Given the description of an element on the screen output the (x, y) to click on. 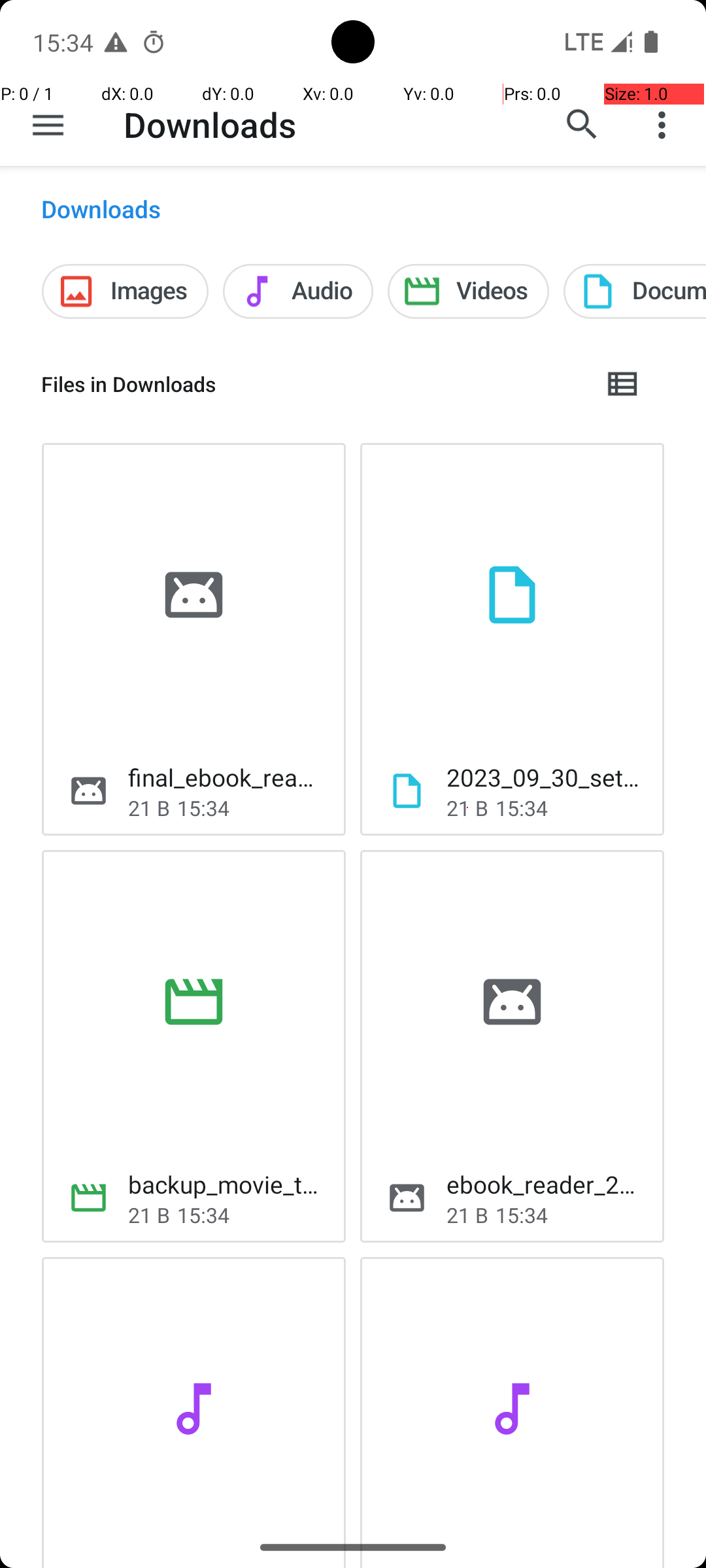
final_ebook_reader.apk Element type: android.widget.TextView (226, 776)
21 B Element type: android.widget.TextView (148, 807)
2023_09_30_setup_exe.exe Element type: android.widget.TextView (544, 776)
backup_movie_trailer.mp4 Element type: android.widget.TextView (226, 1183)
ebook_reader_2023_07_15.apk Element type: android.widget.TextView (544, 1183)
